Given the description of an element on the screen output the (x, y) to click on. 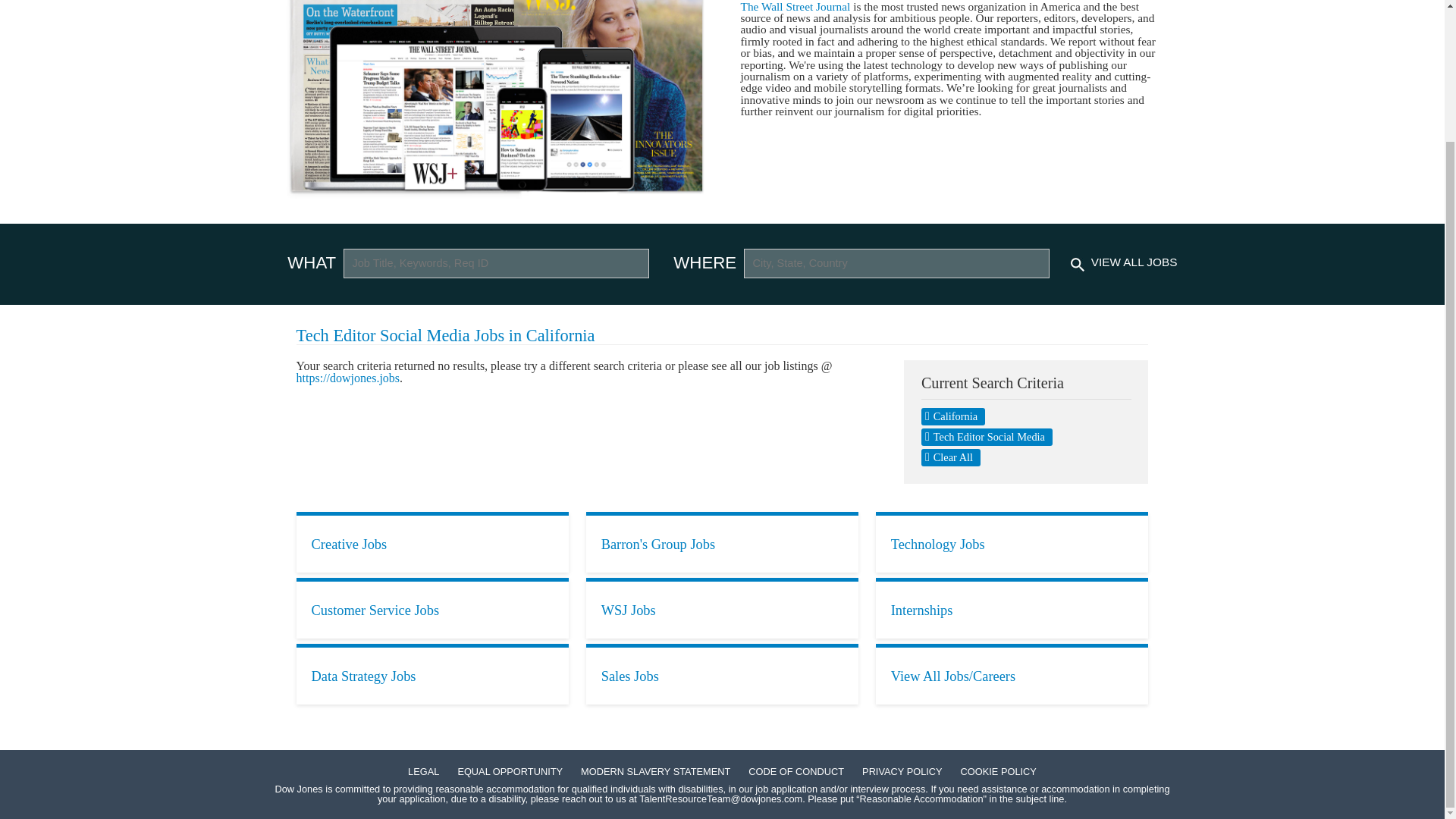
Data Strategy Jobs (433, 673)
Clear All (950, 457)
VIEW ALL JOBS (1133, 261)
Barron's Group Jobs (722, 541)
Remove (986, 436)
Customer Service Jobs (433, 608)
Creative Jobs (433, 541)
The Wall Street Journal (794, 6)
Remove (950, 457)
Search Phrase (496, 263)
WSJ Jobs (722, 608)
Tech Editor Social Media (986, 436)
Remove (953, 416)
Search Location (896, 263)
California (953, 416)
